Given the description of an element on the screen output the (x, y) to click on. 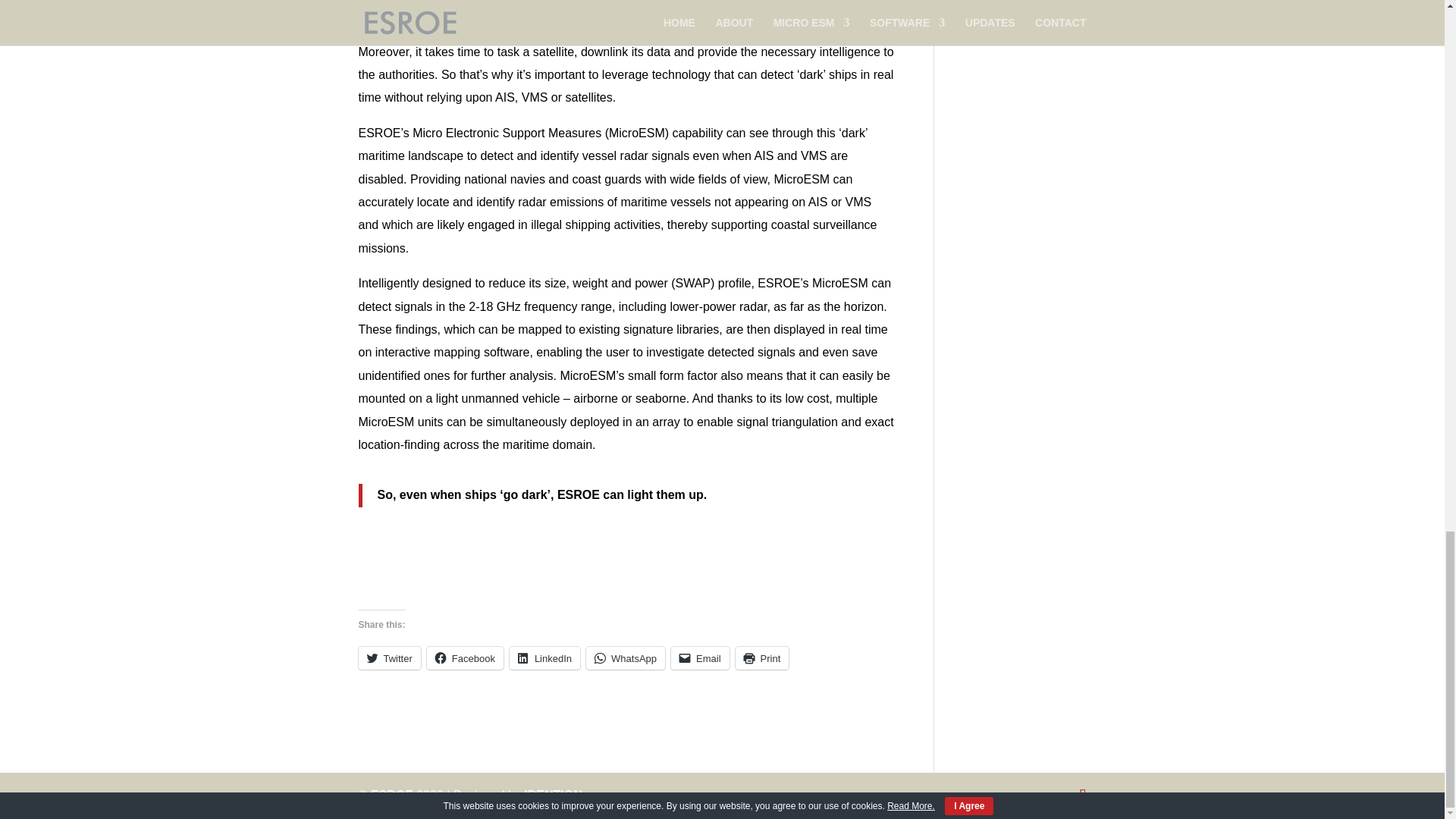
Twitter (389, 658)
Click to print (762, 658)
Print (762, 658)
Facebook (464, 658)
Click to share on Facebook (464, 658)
LinkedIn (544, 658)
Click to email a link to a friend (700, 658)
Click to share on WhatsApp (625, 658)
Click to share on LinkedIn (544, 658)
WhatsApp (625, 658)
IDENTIGN (552, 794)
Email (700, 658)
Click to share on Twitter (389, 658)
ESROE (392, 794)
